Given the description of an element on the screen output the (x, y) to click on. 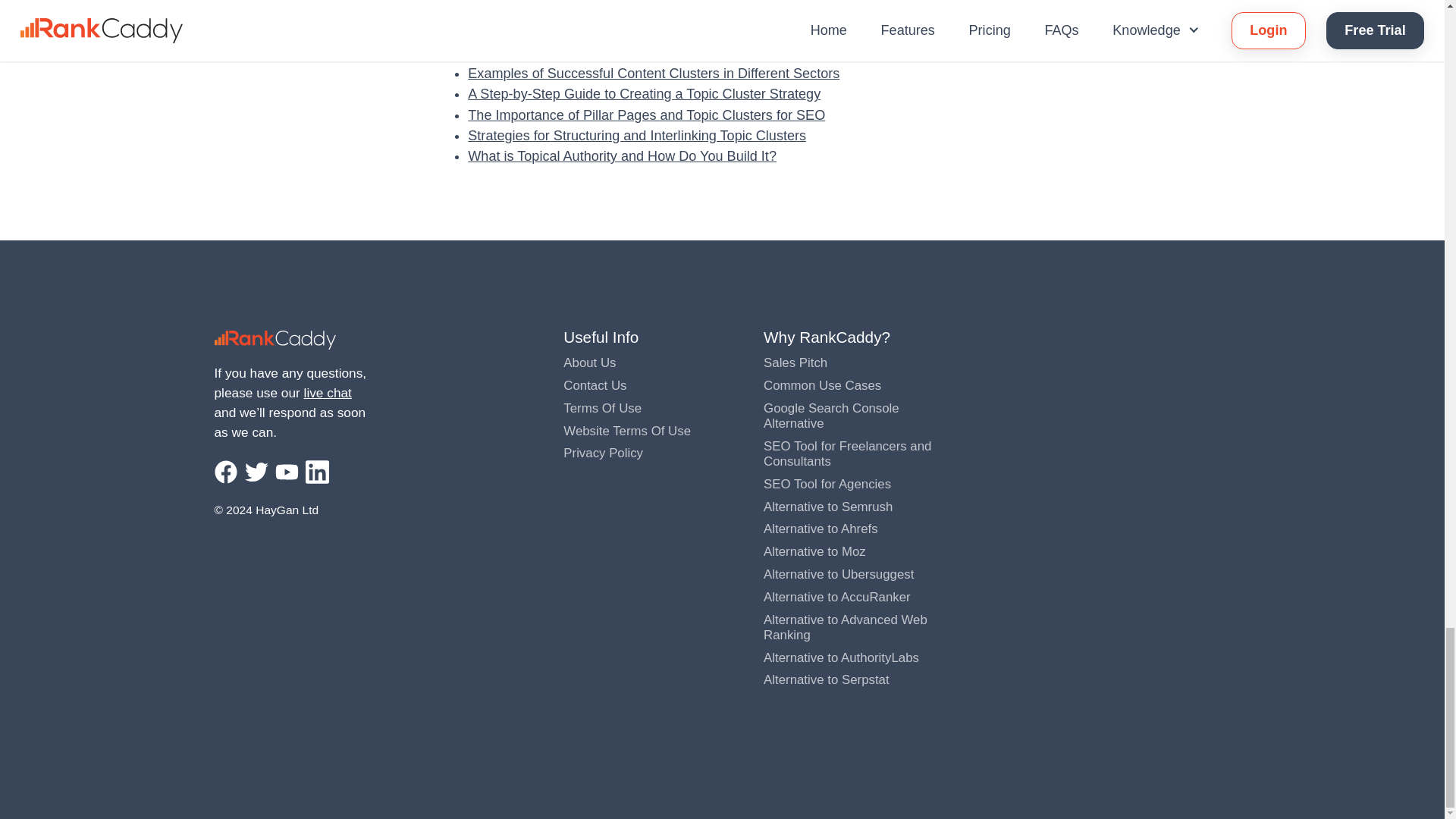
Contact Us (594, 385)
Terms Of Use (602, 408)
Alternative to AccuRanker (836, 596)
Strategies for Structuring and Interlinking Topic Clusters (636, 135)
SEO Tool for Agencies (826, 483)
Alternative to Ubersuggest (838, 574)
What is Topical Authority and How Do You Build It? (621, 155)
Alternative to Moz (814, 551)
Privacy Policy (603, 452)
Alternative to Semrush (827, 506)
About Us (589, 362)
A Step-by-Step Guide to Creating a Topic Cluster Strategy (644, 93)
Sales Pitch (794, 362)
The Importance of Pillar Pages and Topic Clusters for SEO (646, 114)
Website Terms Of Use (626, 431)
